Given the description of an element on the screen output the (x, y) to click on. 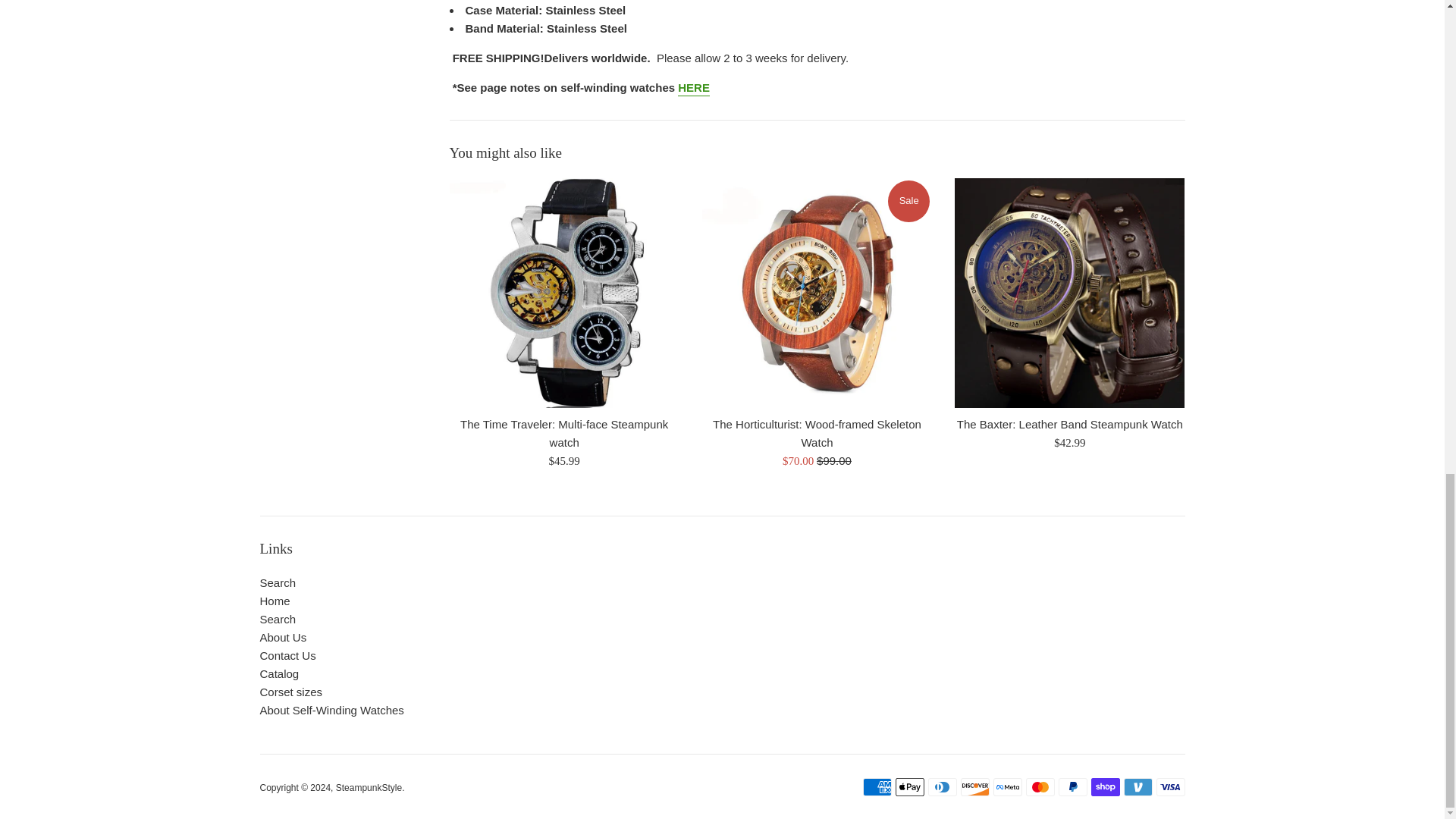
PayPal (1072, 787)
Visa (1170, 787)
Discover (973, 787)
Diners Club (942, 787)
The Time Traveler: Multi-face Steampunk watch (564, 432)
HERE (694, 88)
Mastercard (1039, 787)
Shop Pay (1104, 787)
American Express (877, 787)
About Self-winding watches (694, 88)
The Time Traveler:  Multi-face Steampunk watch (563, 292)
Meta Pay (1007, 787)
Venmo (1138, 787)
Apple Pay (909, 787)
The Baxter:  Leather Band Steampunk Watch (1070, 292)
